Given the description of an element on the screen output the (x, y) to click on. 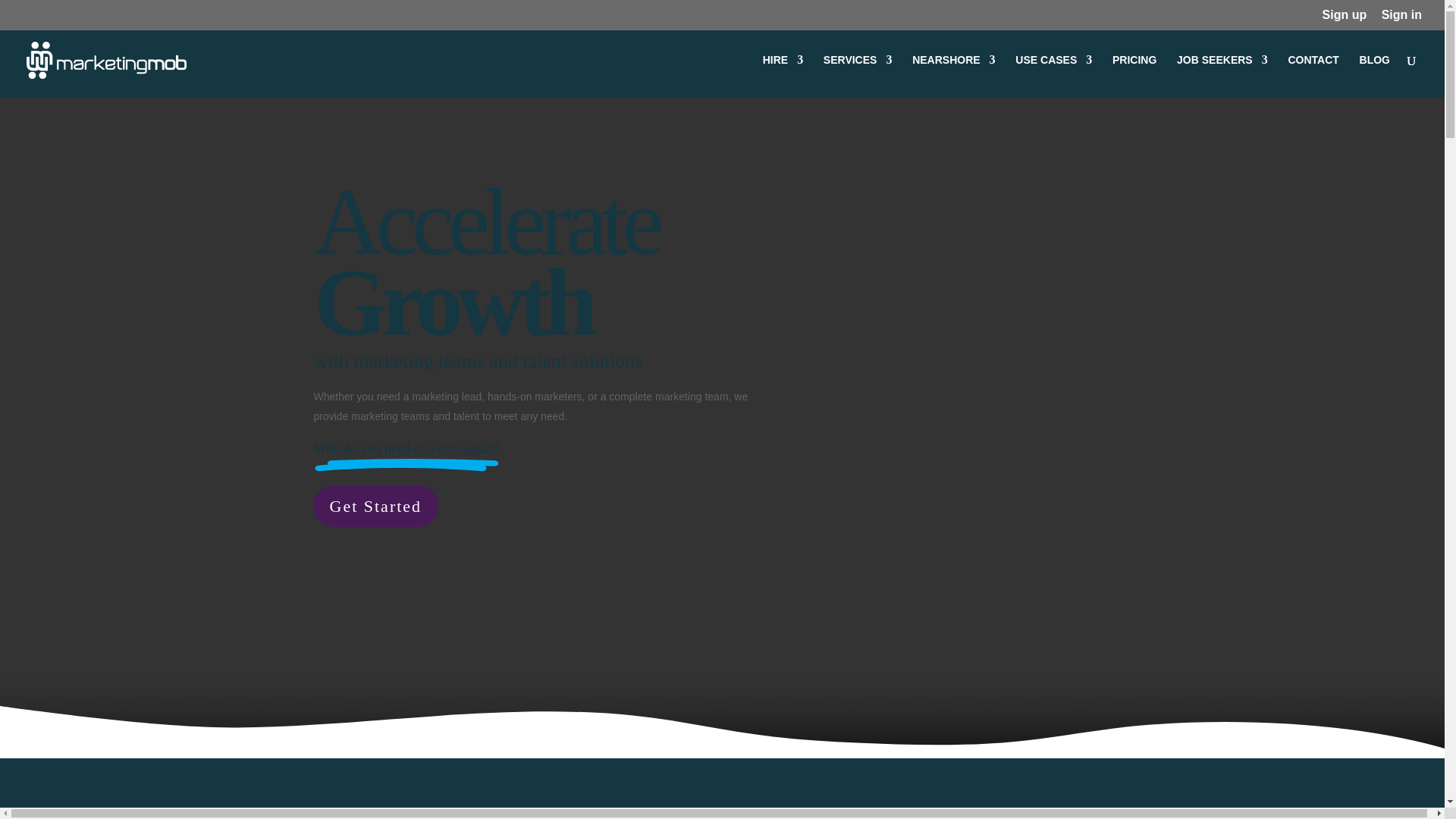
HIRE (782, 75)
Get Started (375, 506)
USE CASES (1053, 75)
CONTACT (1312, 75)
Get Started (375, 506)
PRICING (1134, 75)
Sign in (1401, 19)
NEARSHORE (953, 75)
JOB SEEKERS (1222, 75)
SERVICES (858, 75)
